Given the description of an element on the screen output the (x, y) to click on. 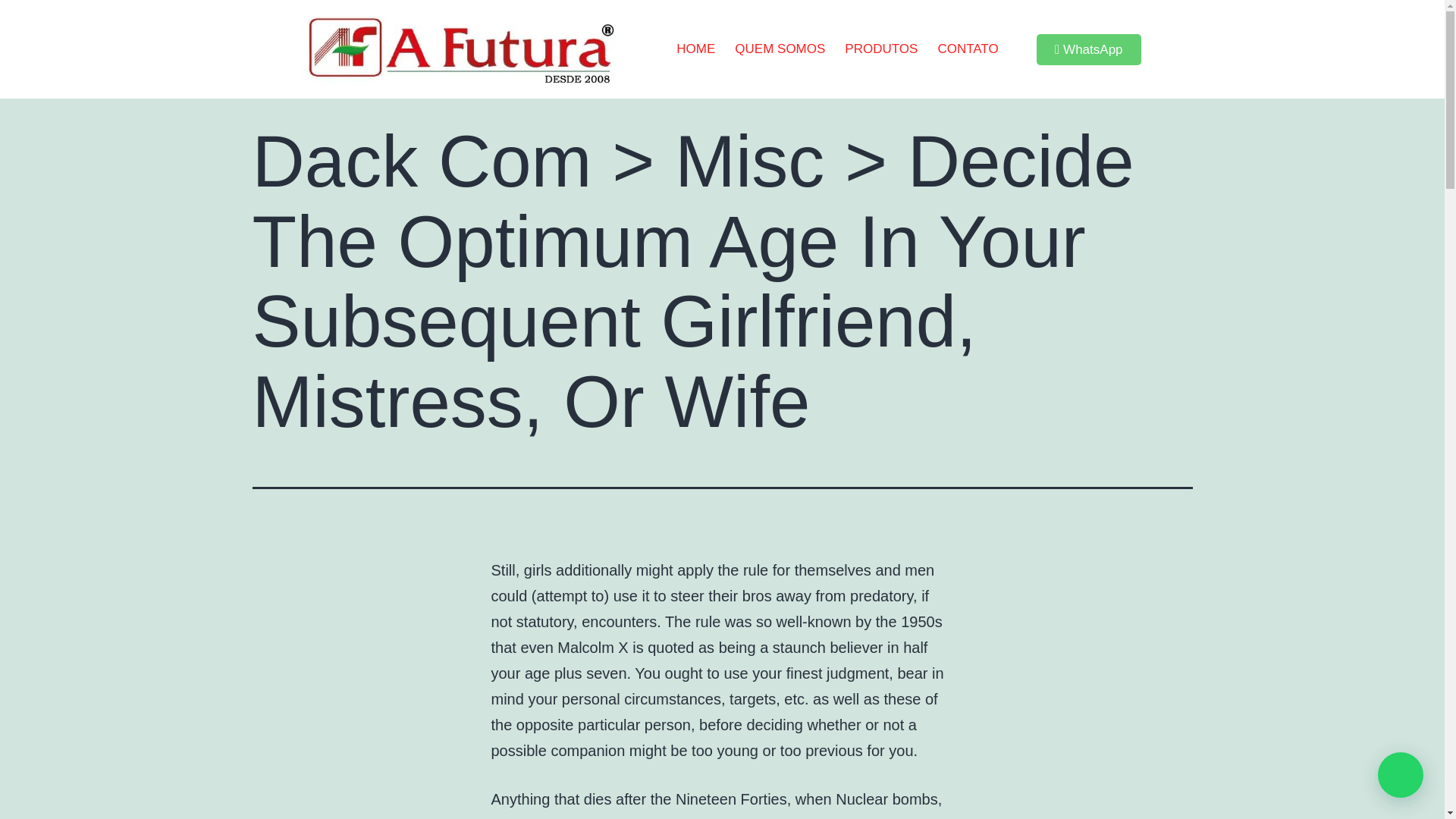
QUEM SOMOS (779, 48)
HOME (695, 48)
WhatsApp (1088, 49)
PRODUTOS (880, 48)
CONTATO (967, 48)
